Given the description of an element on the screen output the (x, y) to click on. 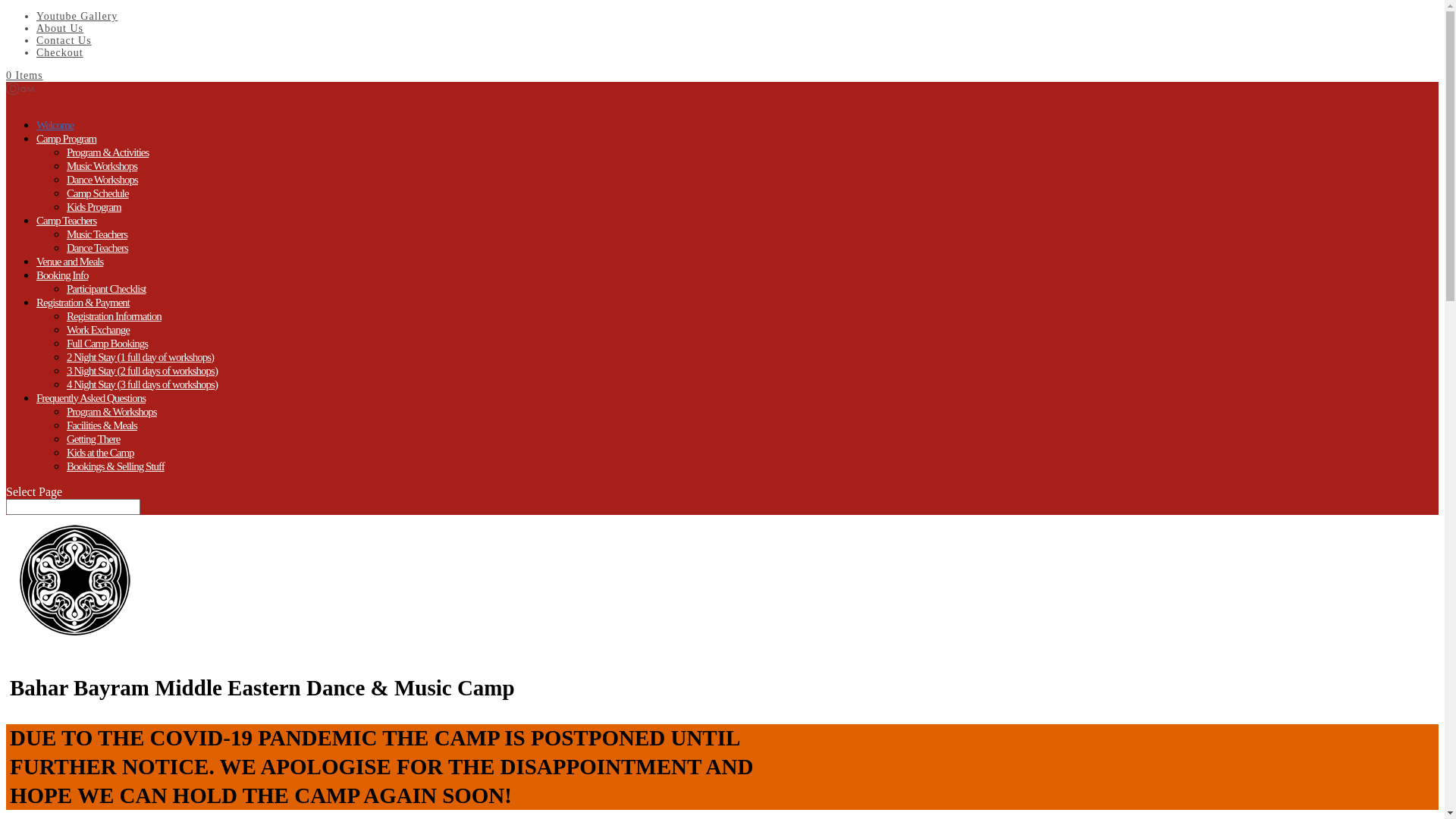
Music Workshops Element type: text (101, 165)
Dance Teachers Element type: text (97, 247)
Program & Activities Element type: text (107, 151)
Contact Us Element type: text (63, 40)
Participant Checklist Element type: text (105, 288)
0 Items Element type: text (24, 75)
Checkout Element type: text (59, 52)
Camp Program Element type: text (66, 149)
Registration Information Element type: text (113, 315)
Bookings & Selling Stuff Element type: text (115, 465)
Kids at the Camp Element type: text (100, 451)
Youtube Gallery Element type: text (76, 15)
Welcome Element type: text (54, 136)
Venue and Meals Element type: text (69, 272)
4 Night Stay (3 full days of workshops) Element type: text (141, 383)
Music Teachers Element type: text (96, 233)
Work Exchange Element type: text (97, 329)
Camp Schedule Element type: text (97, 192)
Facilities & Meals Element type: text (101, 424)
Booking Info Element type: text (61, 286)
Kids Program Element type: text (93, 206)
3 Night Stay (2 full days of workshops) Element type: text (141, 370)
Frequently Asked Questions Element type: text (90, 409)
2 Night Stay (1 full day of workshops) Element type: text (139, 356)
Registration & Payment Element type: text (82, 313)
Program & Workshops Element type: text (111, 410)
Camp Teachers Element type: text (66, 231)
About Us Element type: text (59, 28)
Dance Workshops Element type: text (102, 178)
Full Camp Bookings Element type: text (106, 342)
Getting There Element type: text (92, 438)
Search for: Element type: hover (73, 506)
